Given the description of an element on the screen output the (x, y) to click on. 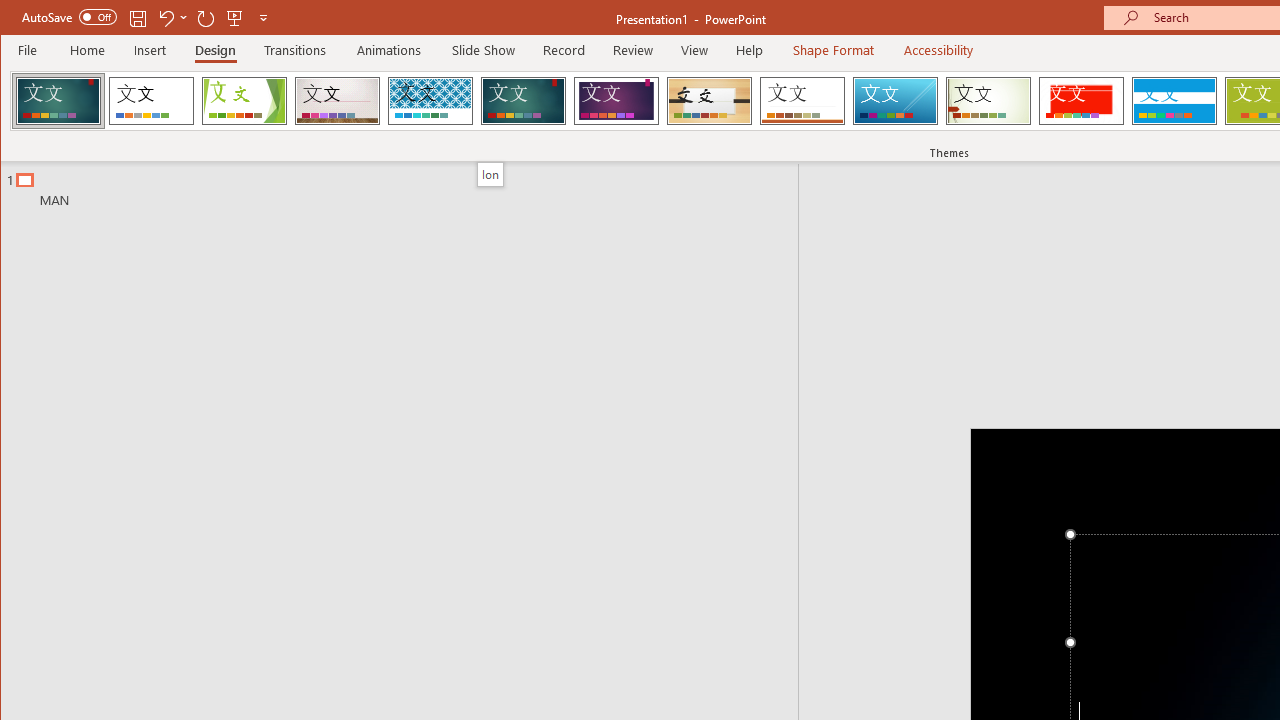
Office Theme (151, 100)
AutoSave (68, 16)
Banded (1174, 100)
Accessibility (938, 50)
Wisp (988, 100)
Customize Quick Access Toolbar (263, 17)
Quick Access Toolbar (146, 17)
Shape Format (833, 50)
File Tab (28, 49)
Animations (388, 50)
Transitions (294, 50)
